Given the description of an element on the screen output the (x, y) to click on. 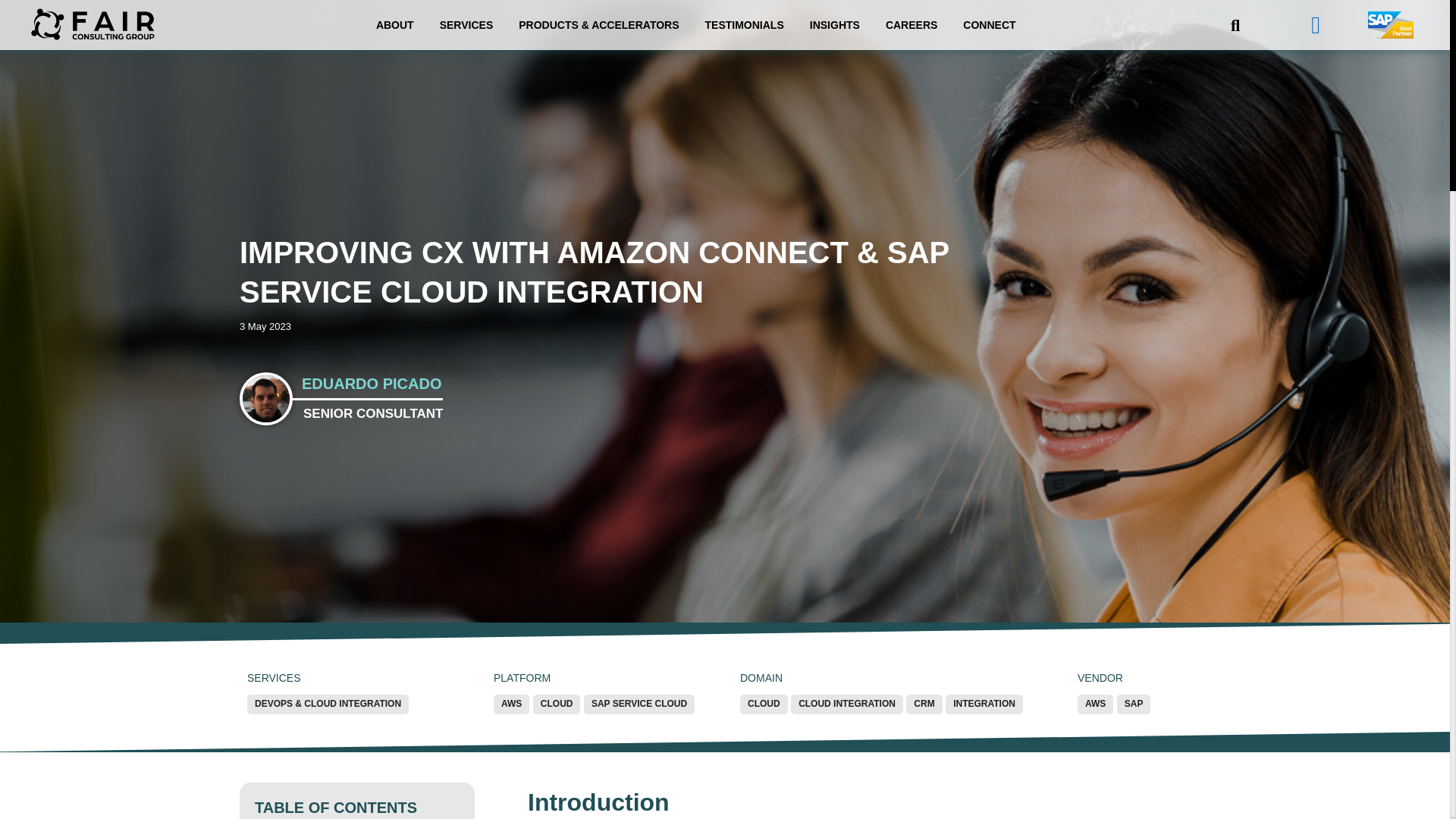
CONNECT (988, 24)
INSIGHTS (834, 24)
CAREERS (911, 24)
ABOUT (394, 24)
sap-gold-partner-2023 (1390, 24)
TESTIMONIALS (744, 24)
SERVICES (466, 24)
